Given the description of an element on the screen output the (x, y) to click on. 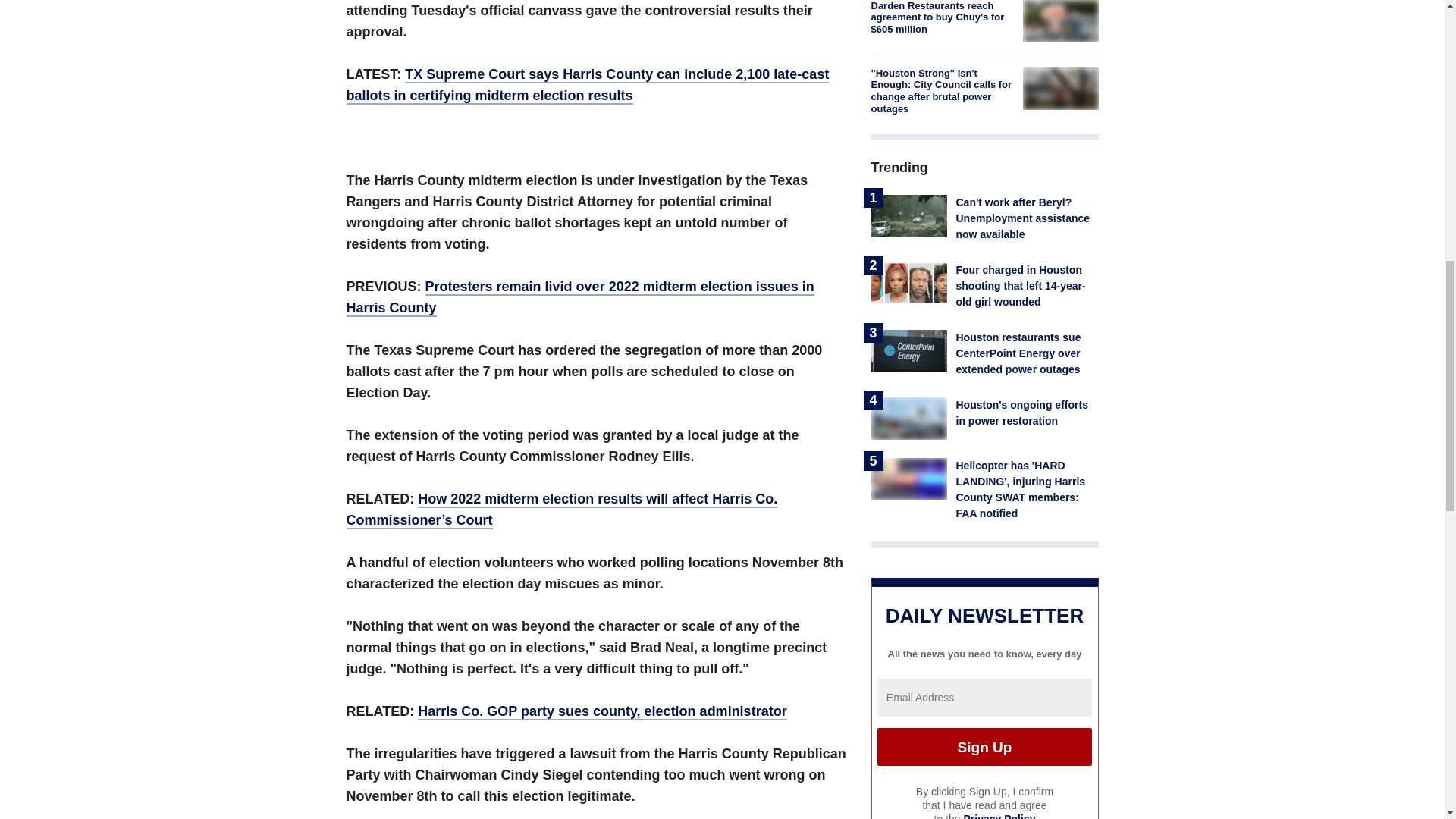
Sign Up (984, 746)
